Given the description of an element on the screen output the (x, y) to click on. 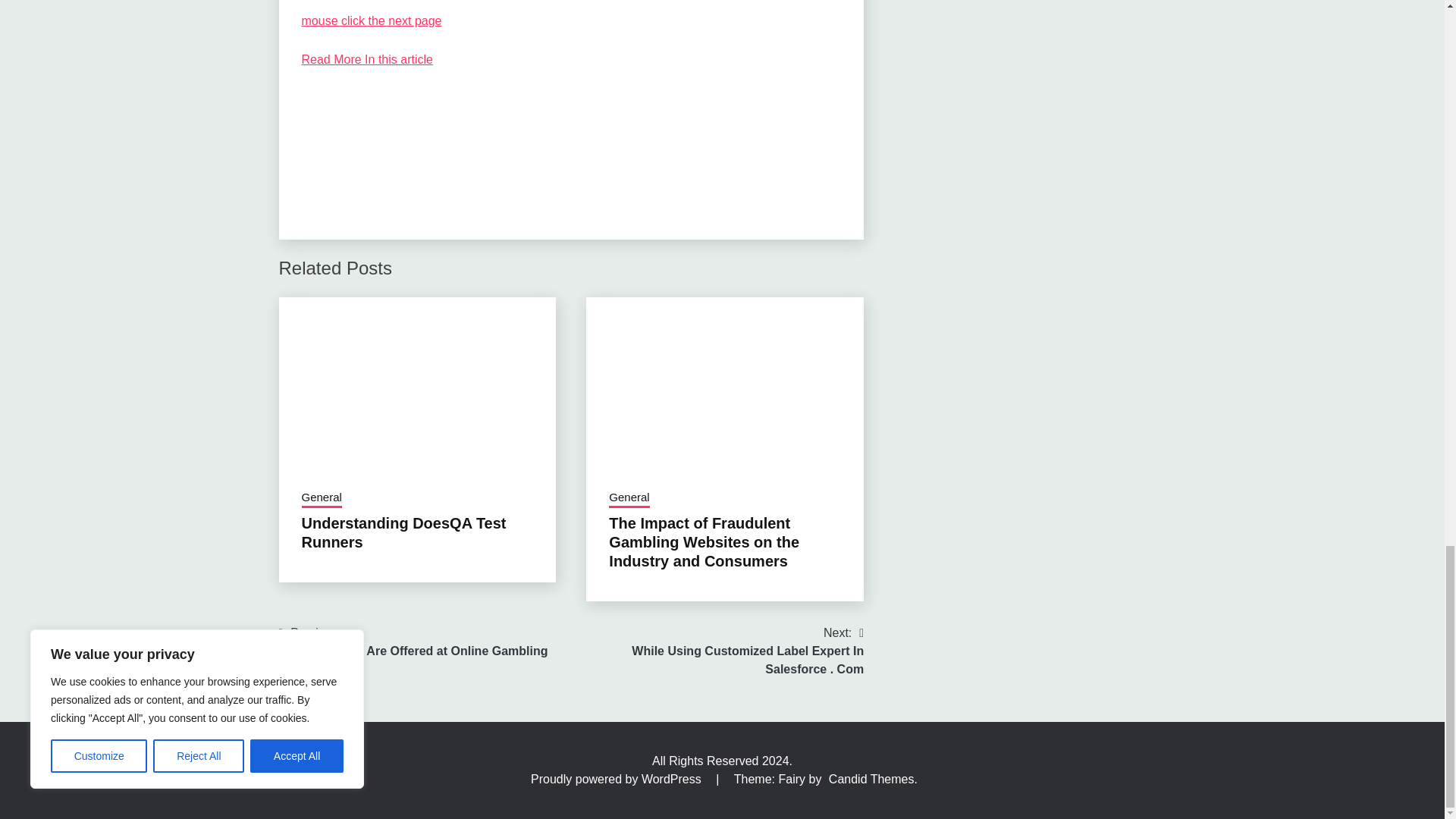
Read More In this article (366, 59)
General (321, 498)
mouse click the next page (371, 20)
